Given the description of an element on the screen output the (x, y) to click on. 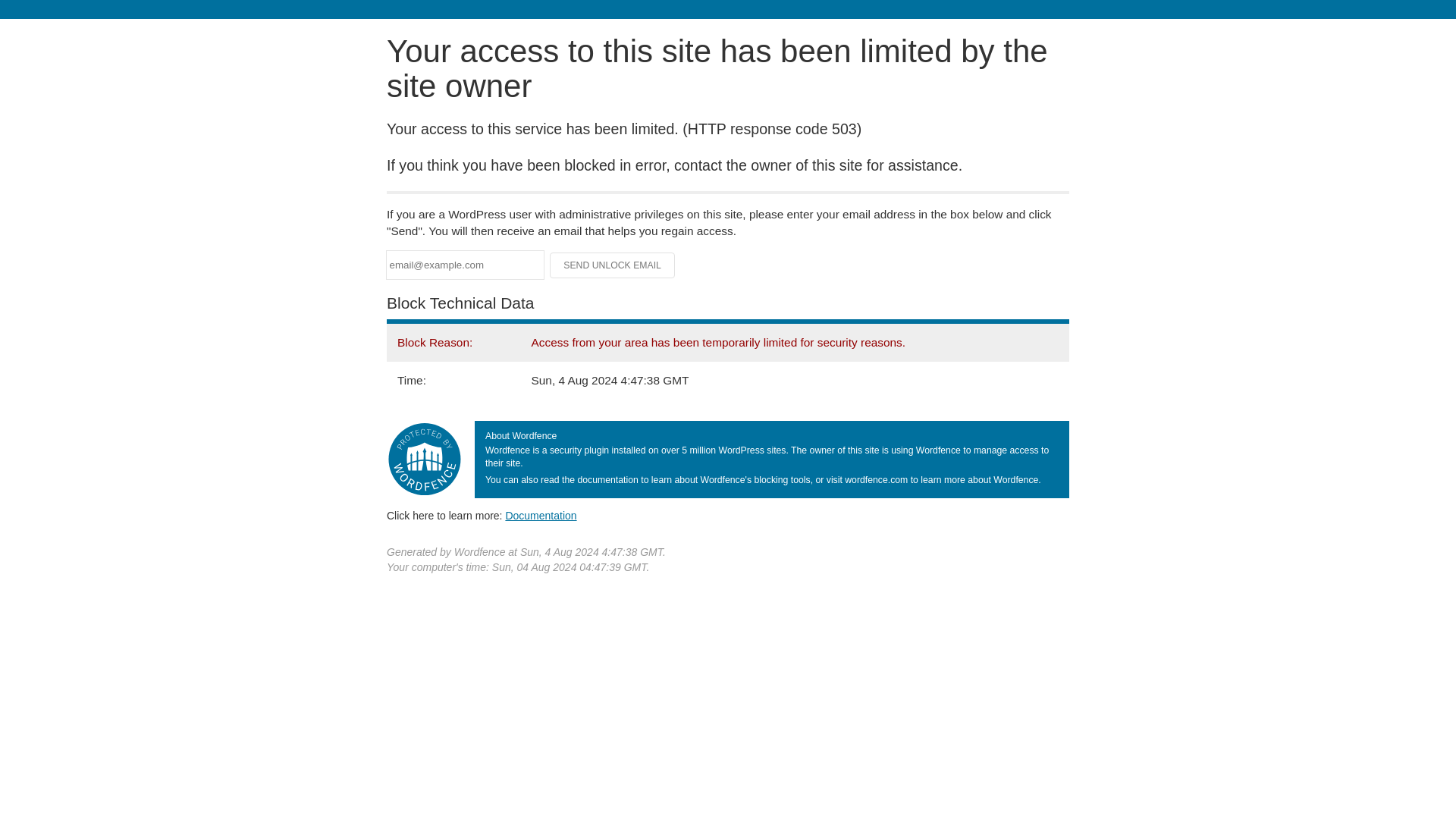
Send Unlock Email (612, 265)
Documentation (540, 515)
Send Unlock Email (612, 265)
